Given the description of an element on the screen output the (x, y) to click on. 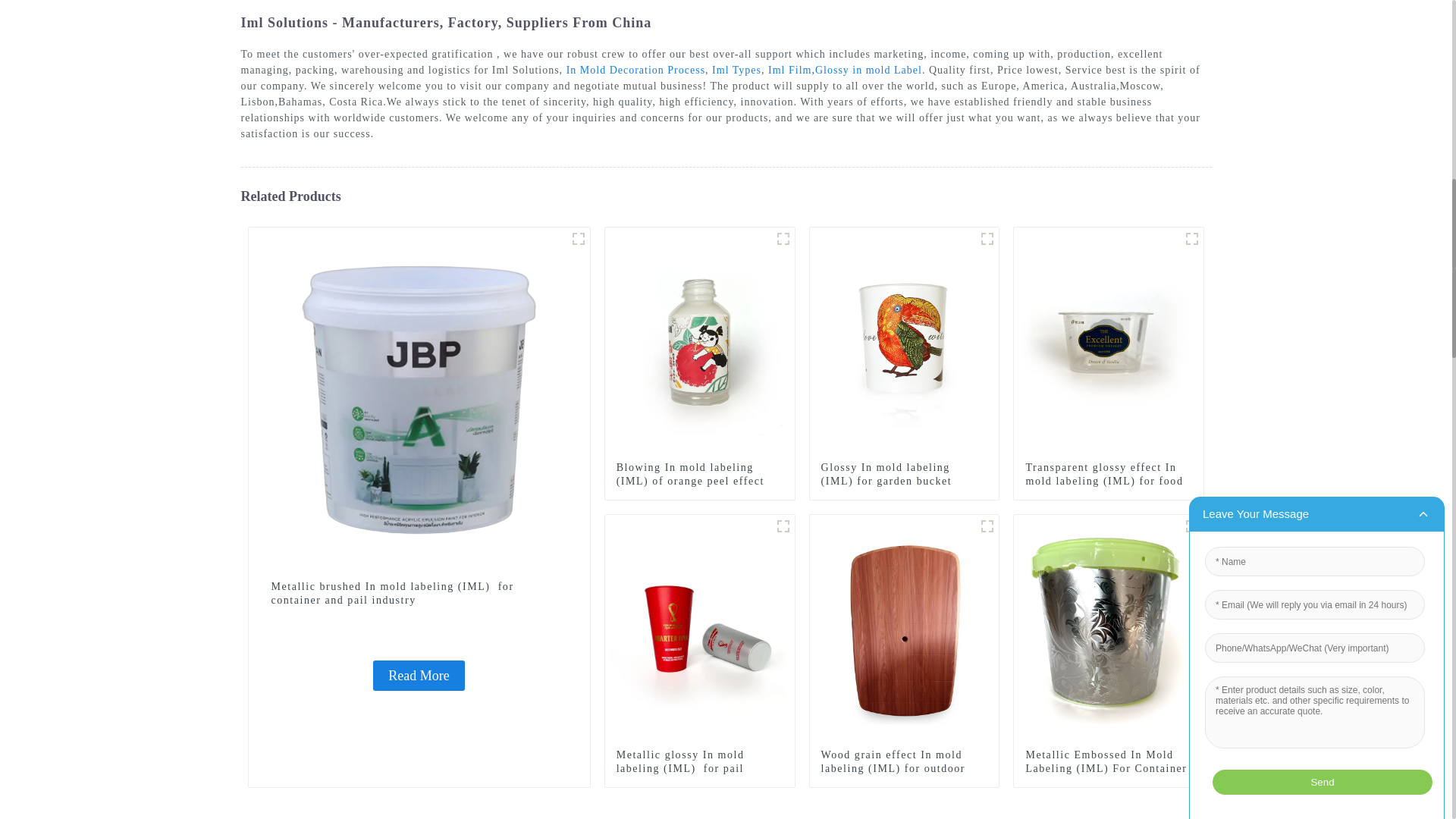
Read More (418, 675)
Glossy in mold Label (868, 70)
Iml Types (736, 70)
In Mold Decoration Process (635, 70)
Glossy in mold Label (868, 70)
In Mold Decoration Process (635, 70)
Iml Film (789, 70)
Iml Film (789, 70)
Iml Types (736, 70)
